Given the description of an element on the screen output the (x, y) to click on. 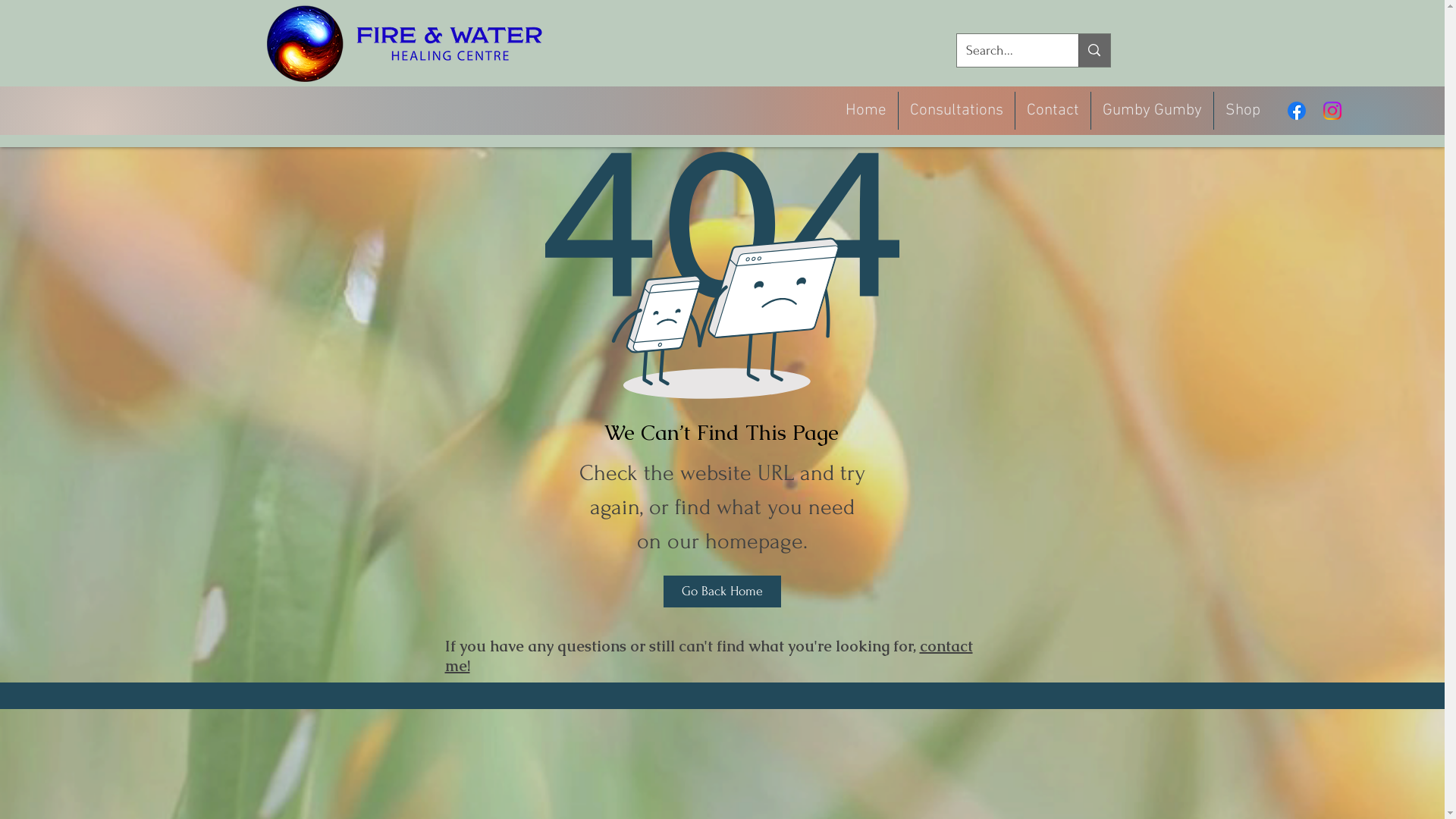
Go Back Home Element type: text (721, 591)
Gumby Gumby Element type: text (1152, 110)
Contact Element type: text (1052, 110)
Consultations Element type: text (956, 110)
Home Element type: text (865, 110)
contact me! Element type: text (708, 655)
Shop Element type: text (1242, 110)
